Given the description of an element on the screen output the (x, y) to click on. 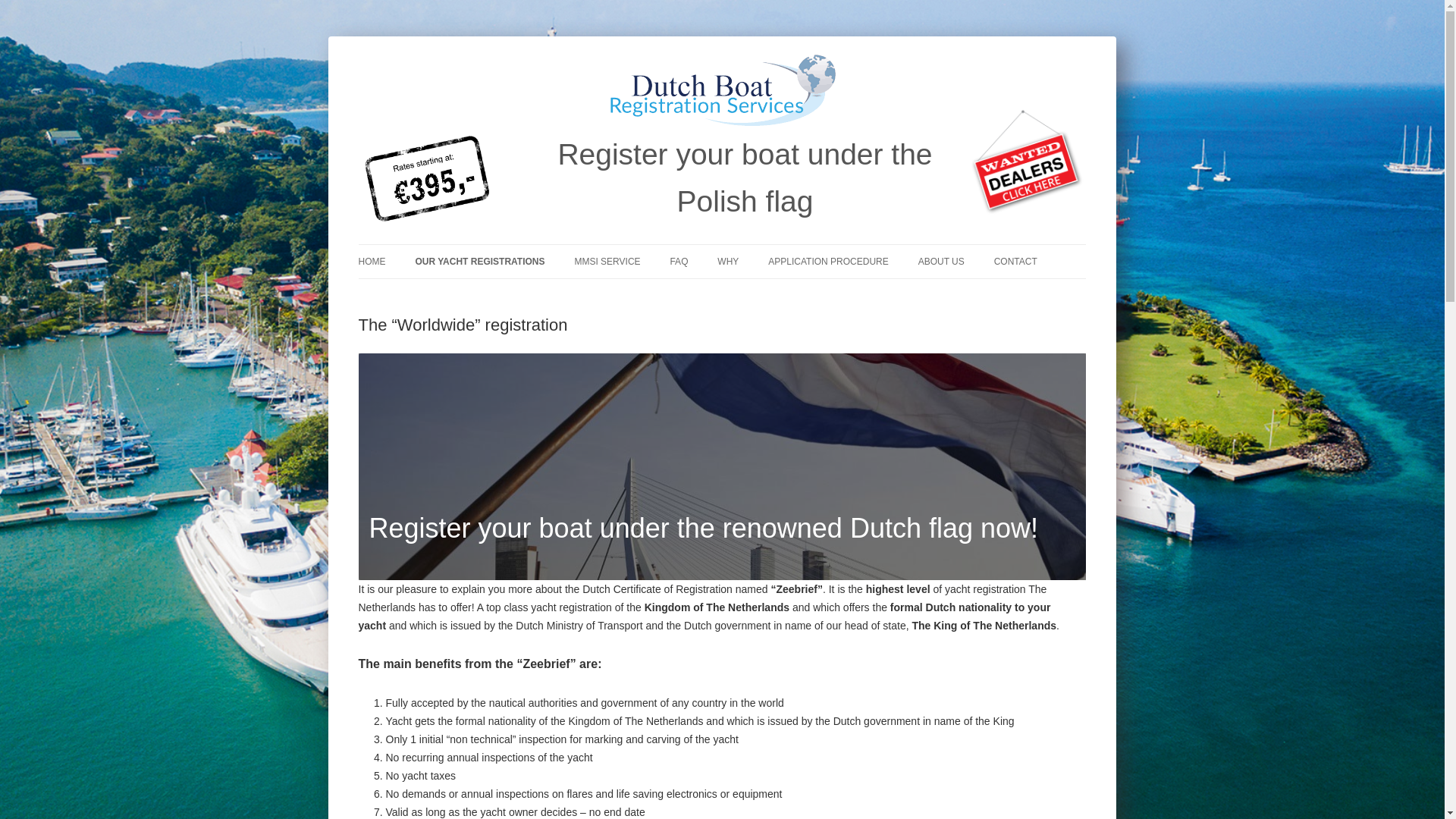
MMSI SERVICE (606, 261)
ABOUT US (940, 261)
APPLICATION PROCEDURE (828, 261)
Register your boat under the Polish flag (744, 178)
Register your boat under the Polish flag (744, 178)
CONTACT (1015, 261)
OUR YACHT REGISTRATIONS (479, 261)
YACHT INSURANCE QUOTE SERVICE (490, 302)
